Given the description of an element on the screen output the (x, y) to click on. 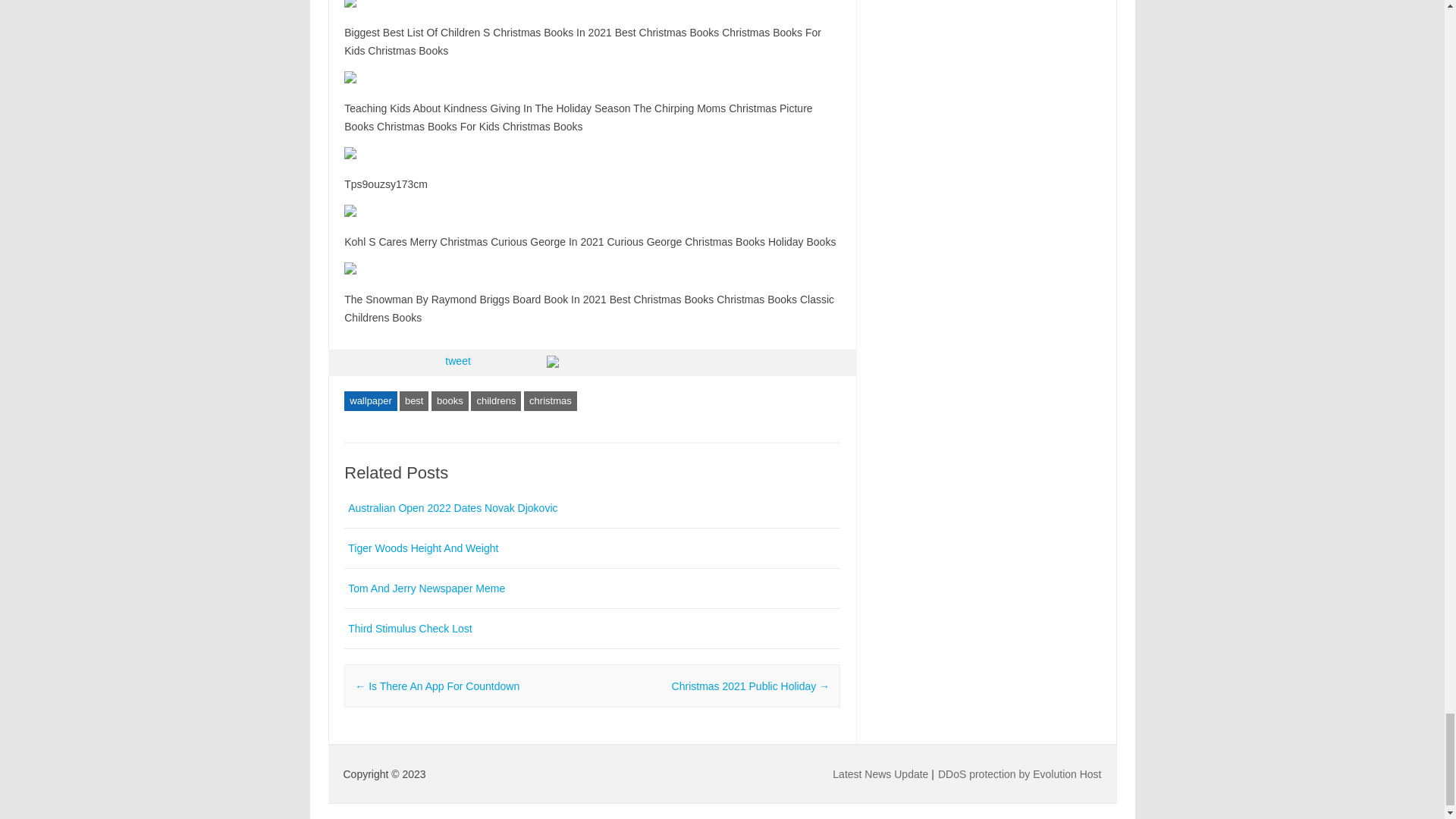
Tiger Woods Height And Weight (422, 548)
Australian Open 2022 Dates Novak Djokovic (452, 508)
Tom And Jerry Newspaper Meme (426, 588)
Third Stimulus Check Lost (409, 628)
